Given the description of an element on the screen output the (x, y) to click on. 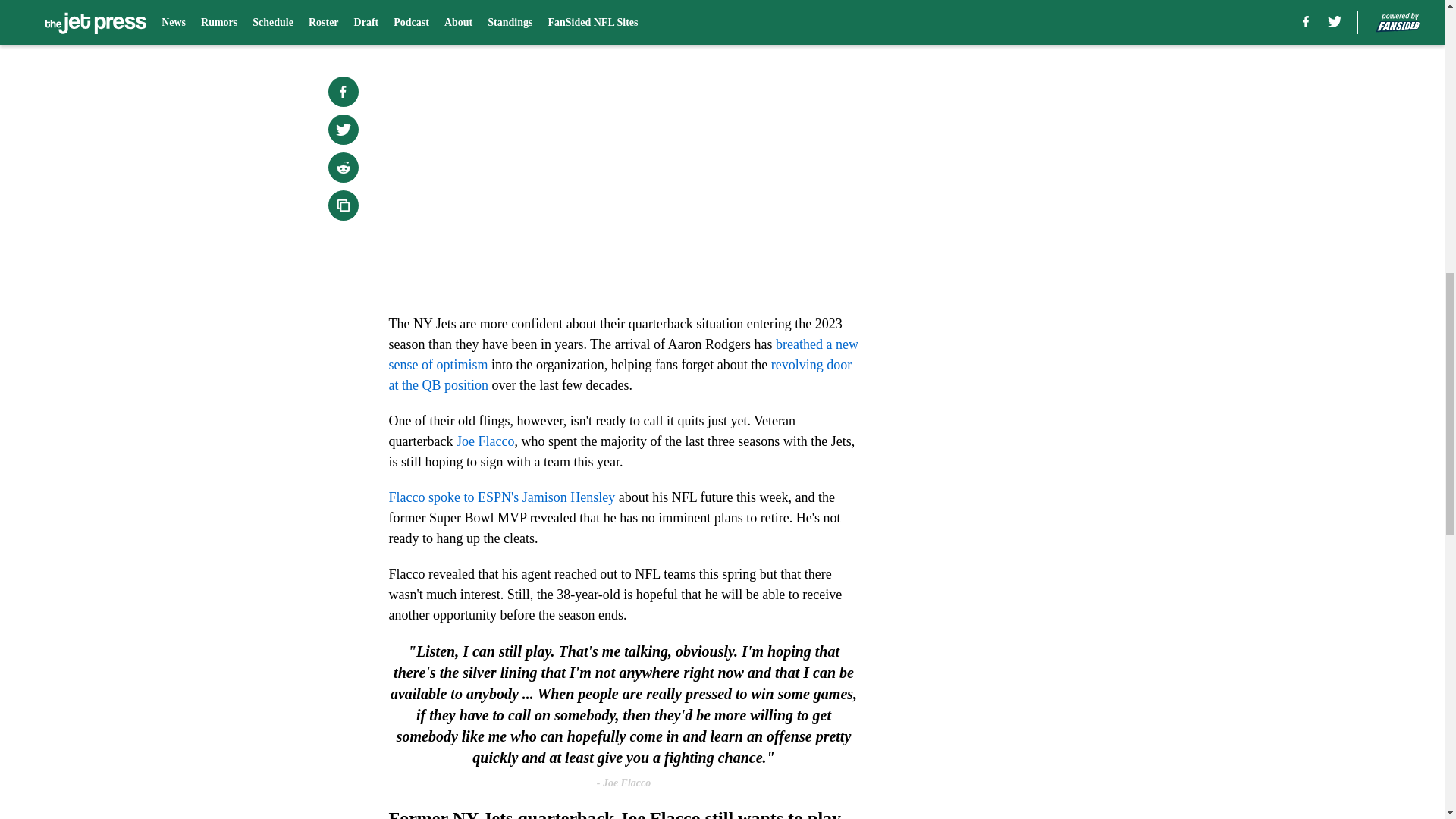
Joe Flacco (485, 441)
Flacco spoke to ESPN's Jamison Hensley (501, 497)
revolving door at the QB position (619, 375)
breathed a new sense of optimism (622, 354)
